Given the description of an element on the screen output the (x, y) to click on. 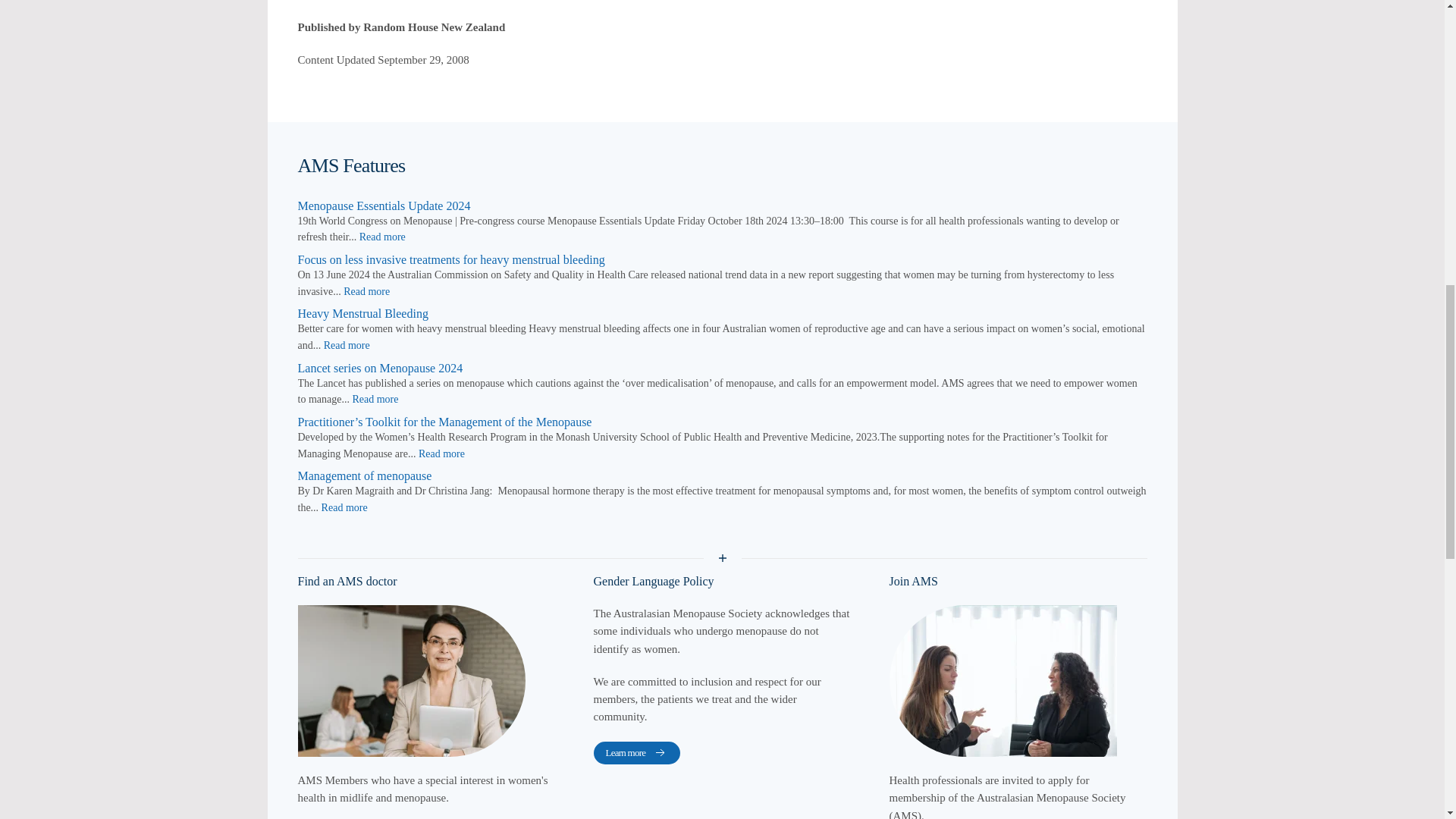
Learn more (635, 753)
